Given the description of an element on the screen output the (x, y) to click on. 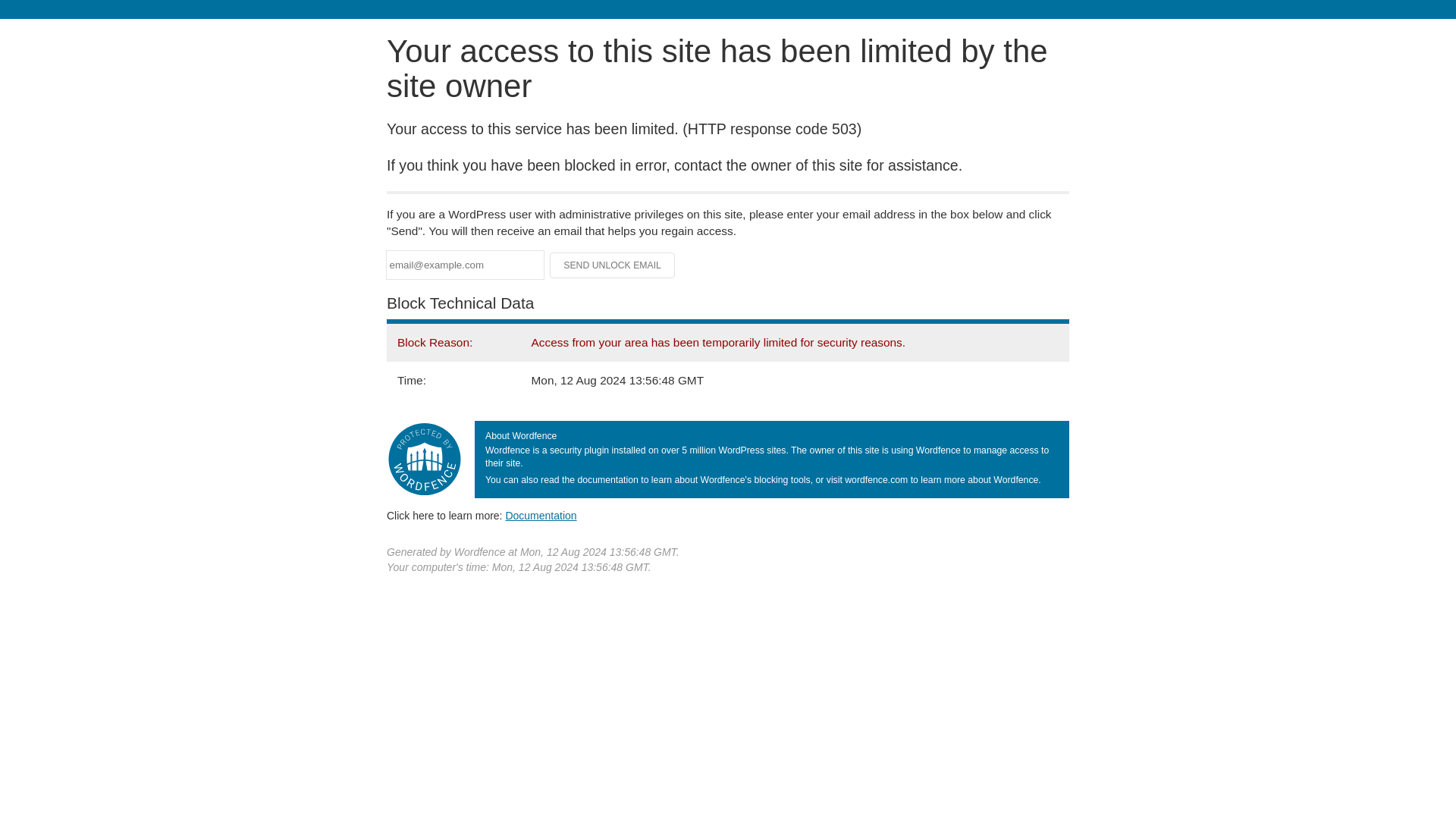
Documentation (540, 515)
Send Unlock Email (612, 265)
Send Unlock Email (612, 265)
